Given the description of an element on the screen output the (x, y) to click on. 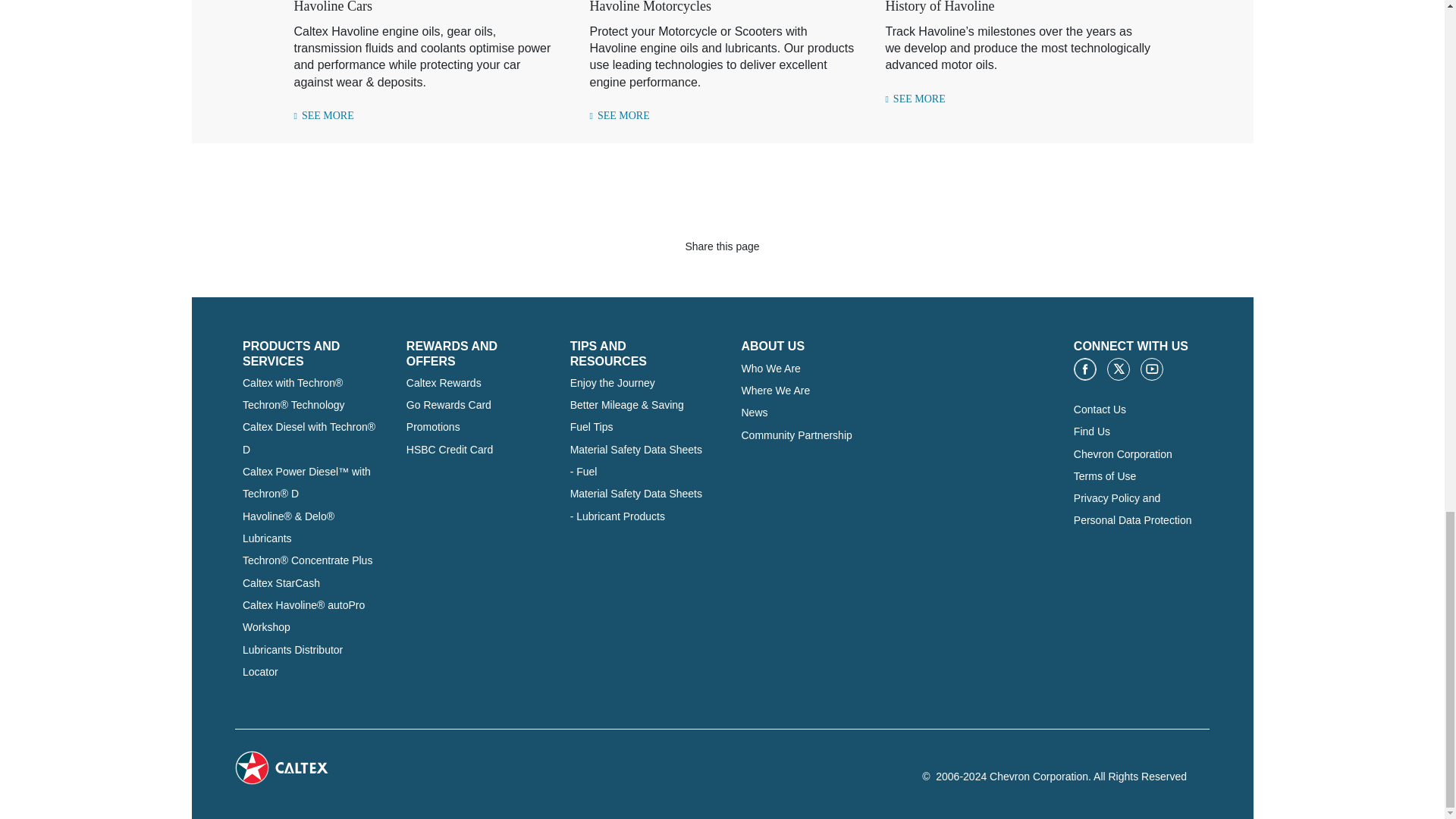
See More (914, 99)
See More (323, 115)
See More (619, 115)
